Given the description of an element on the screen output the (x, y) to click on. 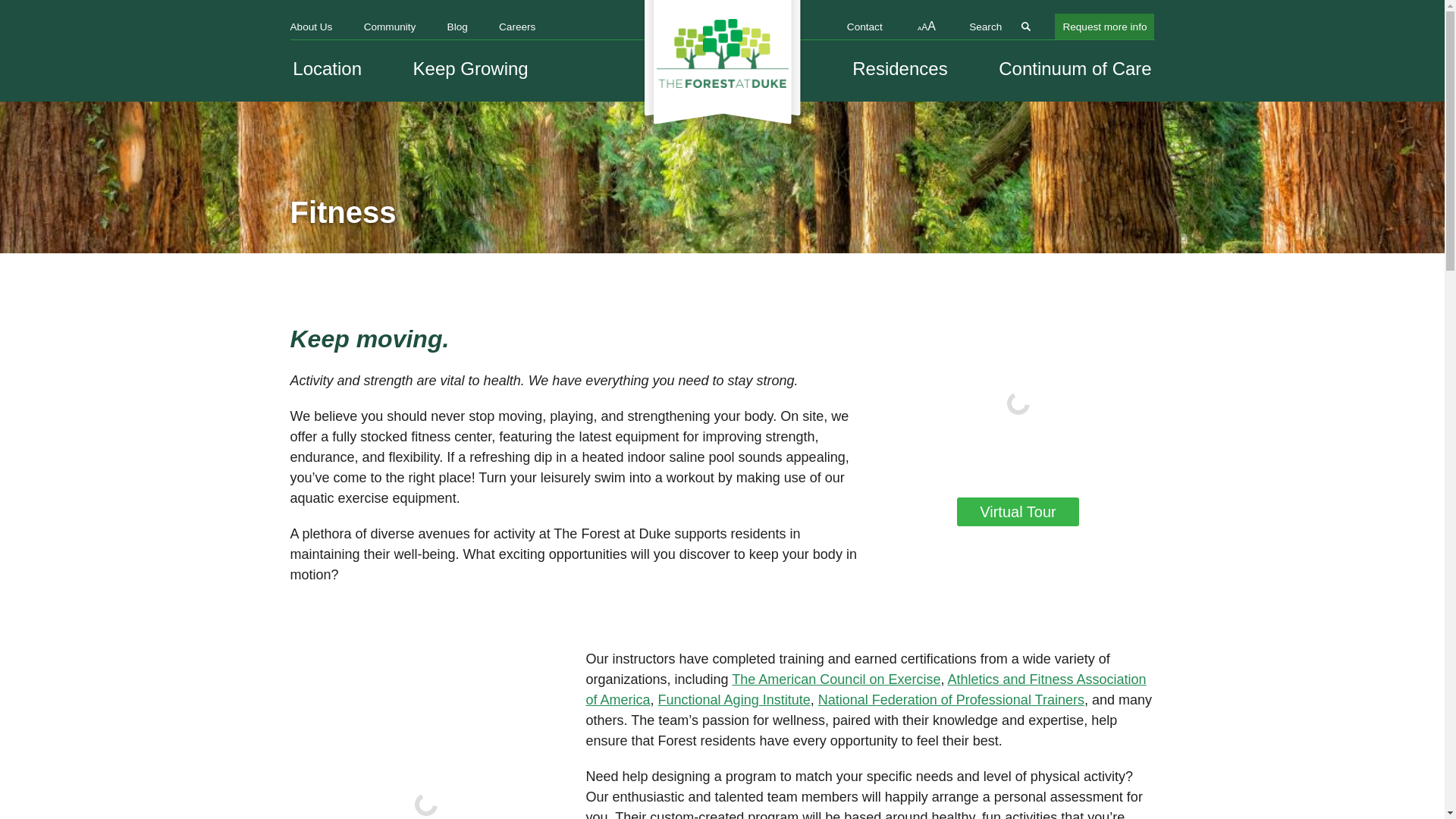
Community (389, 26)
Residences (899, 68)
Blog (457, 26)
Search for: (1000, 26)
Keep Growing (470, 68)
Location (327, 68)
Continuum of Care (1074, 68)
About Us (310, 26)
Skip to main content (22, 3)
Careers (517, 26)
